Given the description of an element on the screen output the (x, y) to click on. 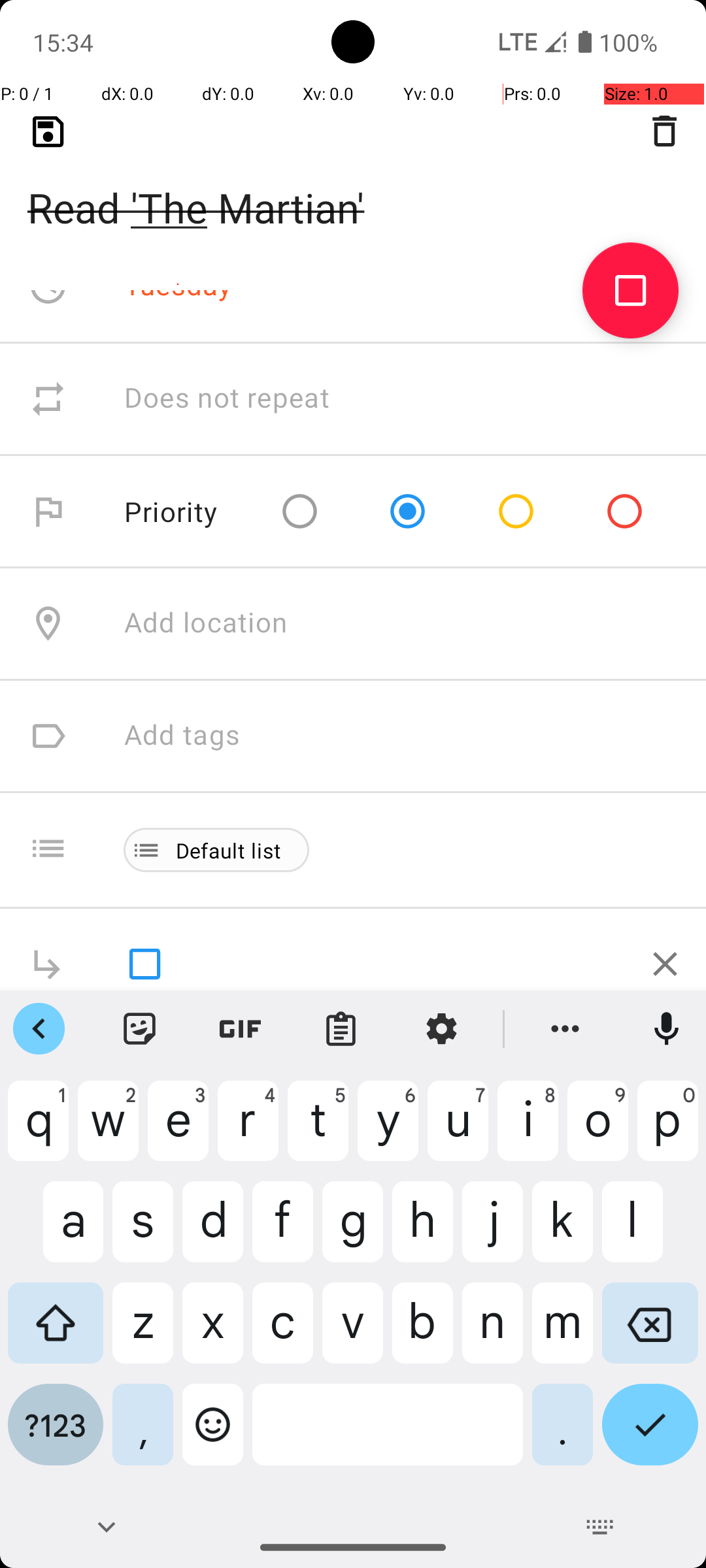
Monday, October 2 Element type: android.widget.TextView (245, 173)
